Given the description of an element on the screen output the (x, y) to click on. 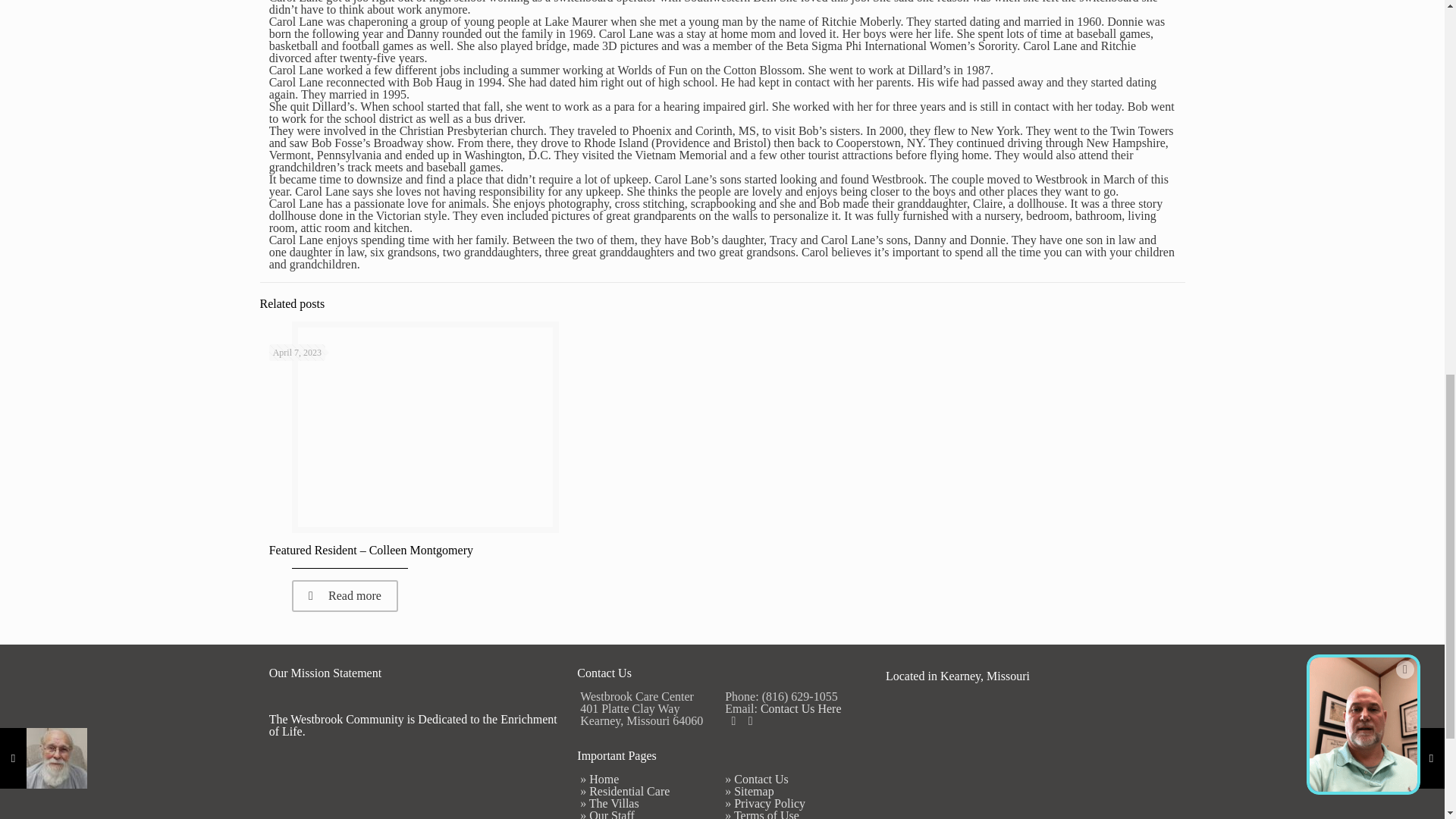
Twitter (750, 720)
Facebook (733, 720)
Read more (344, 595)
Contact Us Here (800, 707)
Home (603, 779)
